Given the description of an element on the screen output the (x, y) to click on. 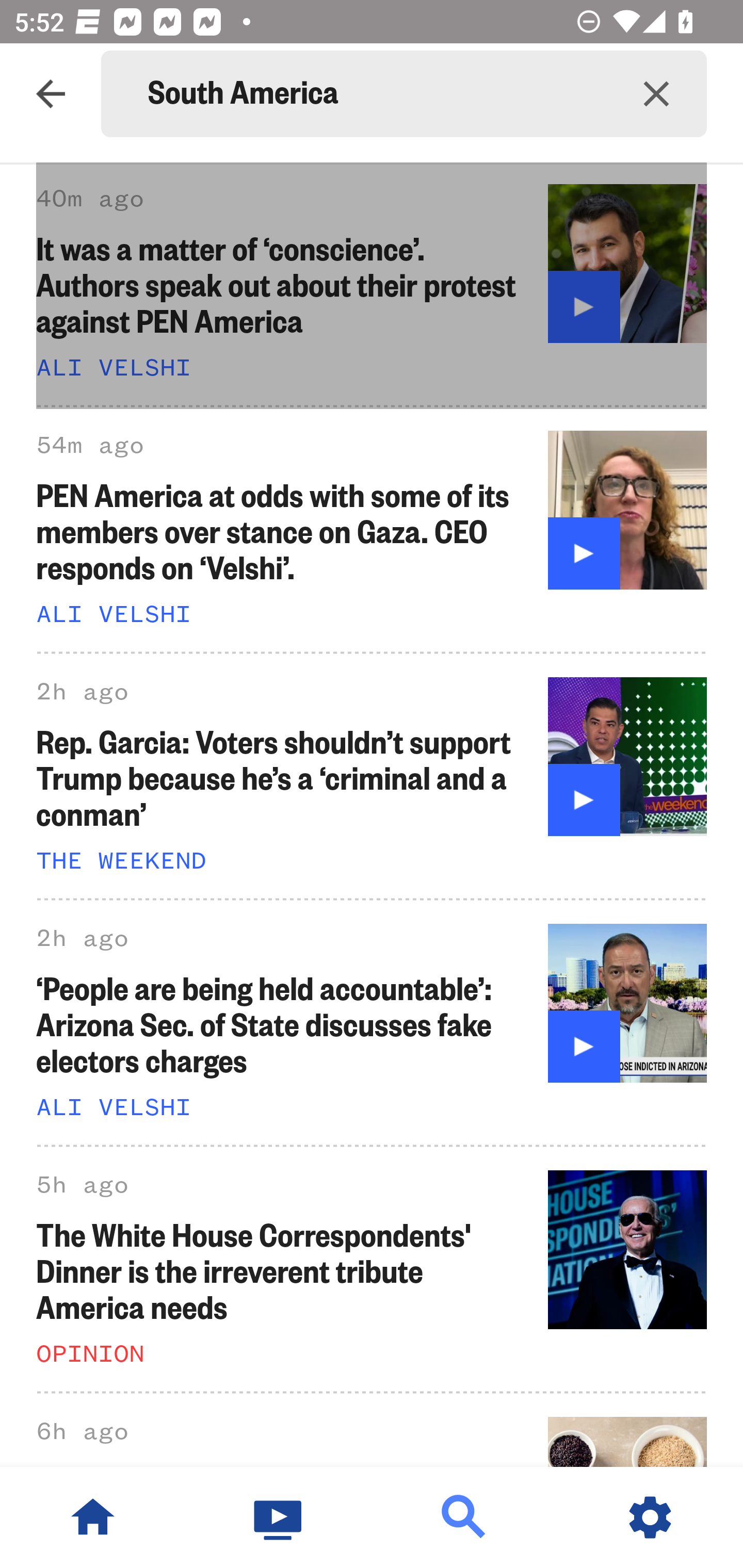
Navigate up (50, 93)
Clear query (656, 93)
South America (376, 94)
NBC News Home (92, 1517)
Watch (278, 1517)
Settings (650, 1517)
